Given the description of an element on the screen output the (x, y) to click on. 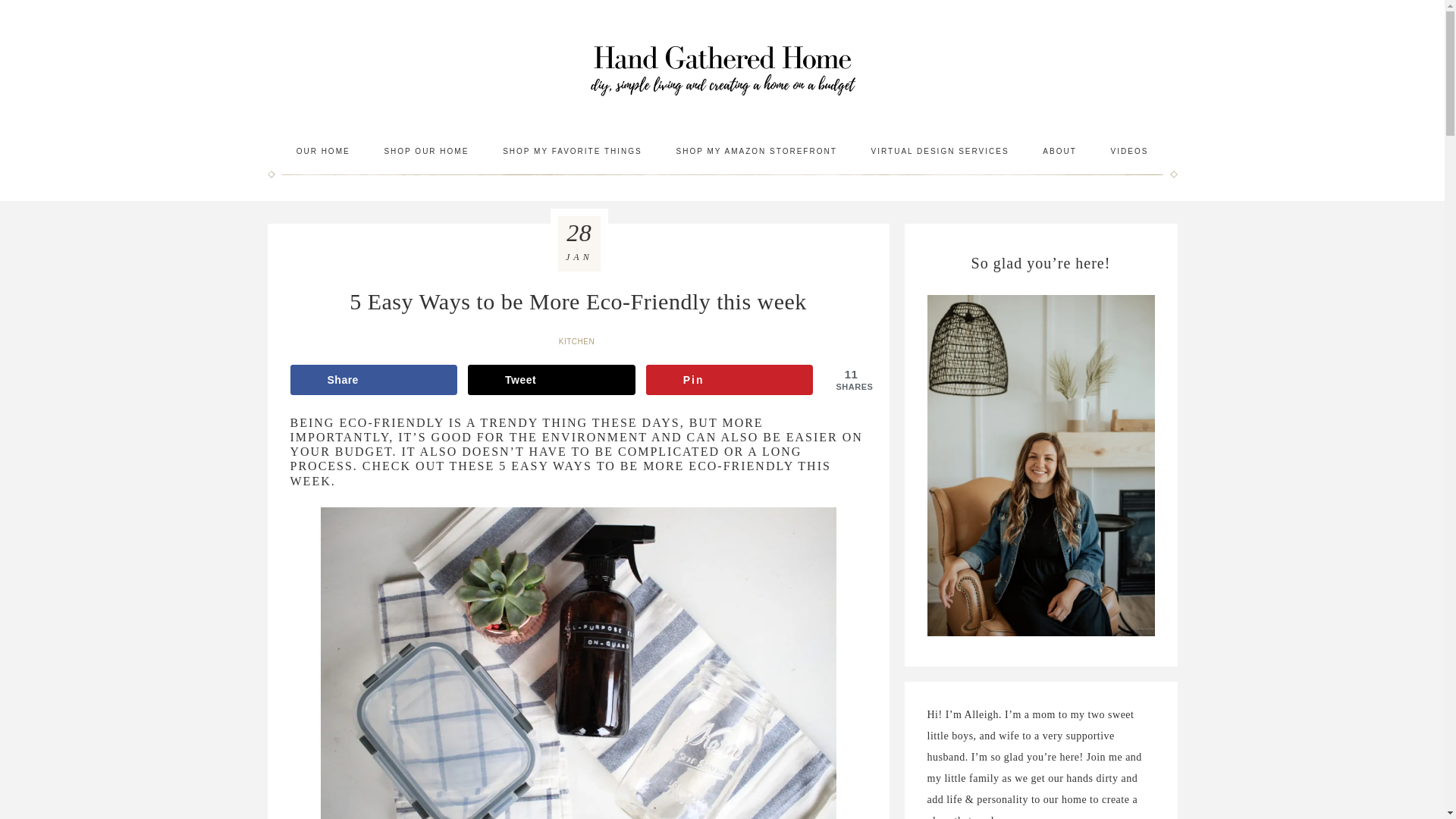
Save to Pinterest (729, 379)
Share (373, 379)
VIDEOS (1129, 151)
SHOP OUR HOME (425, 151)
Share on X (550, 379)
Share on Facebook (373, 379)
Pin (729, 379)
SHOP MY AMAZON STOREFRONT (756, 151)
ABOUT (1058, 151)
SHOP MY FAVORITE THINGS (572, 151)
OUR HOME (323, 151)
Tweet (550, 379)
KITCHEN (577, 341)
VIRTUAL DESIGN SERVICES (940, 151)
So glad you're here! (1040, 465)
